Given the description of an element on the screen output the (x, y) to click on. 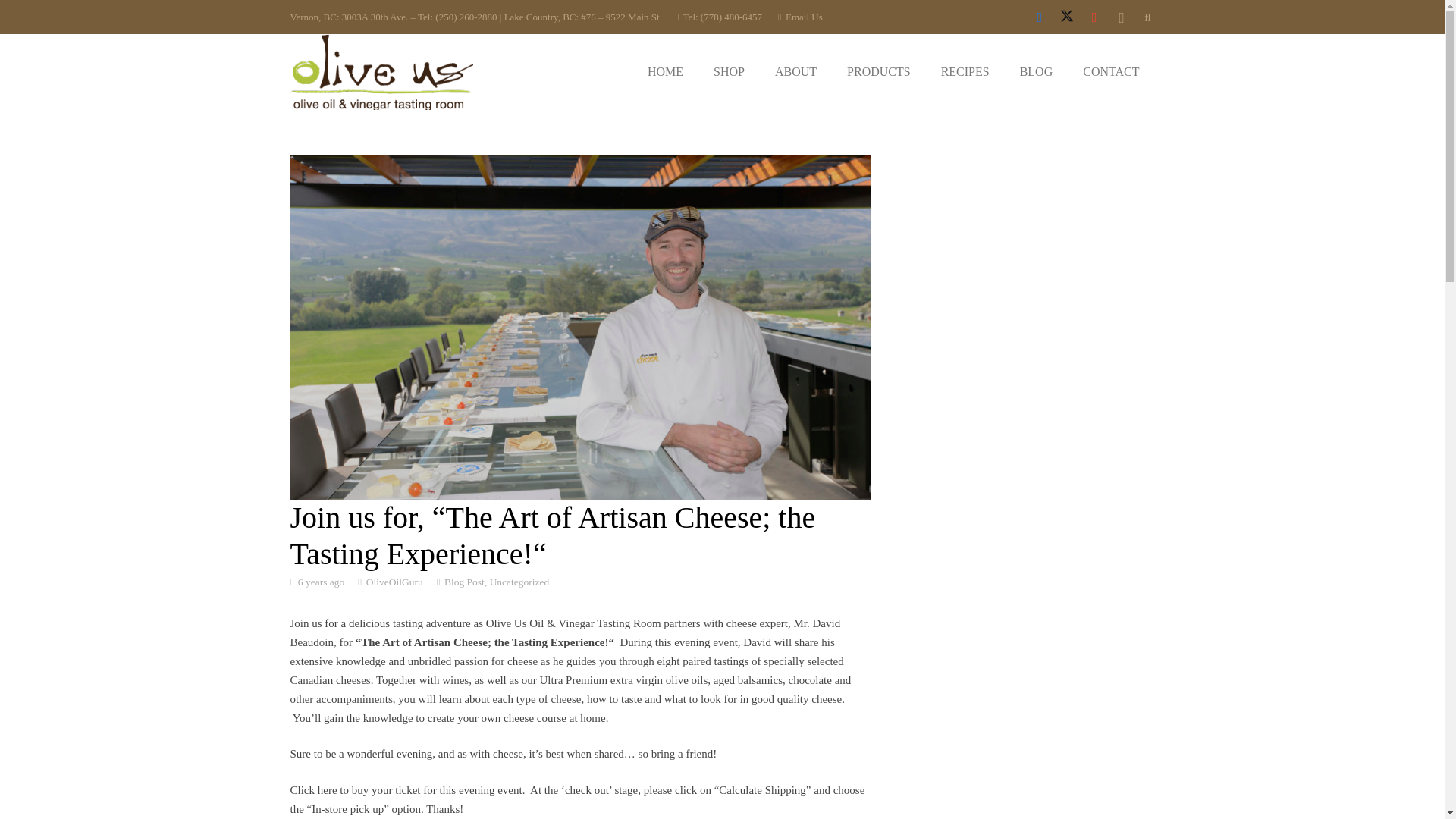
OliveOilGuru (394, 581)
RECIPES (965, 71)
PRODUCTS (878, 71)
CONTACT (1110, 71)
Google (1094, 16)
Blog Post (464, 582)
Facebook (1039, 16)
Twitter (1066, 16)
Email Us (799, 16)
HOME (664, 71)
